Given the description of an element on the screen output the (x, y) to click on. 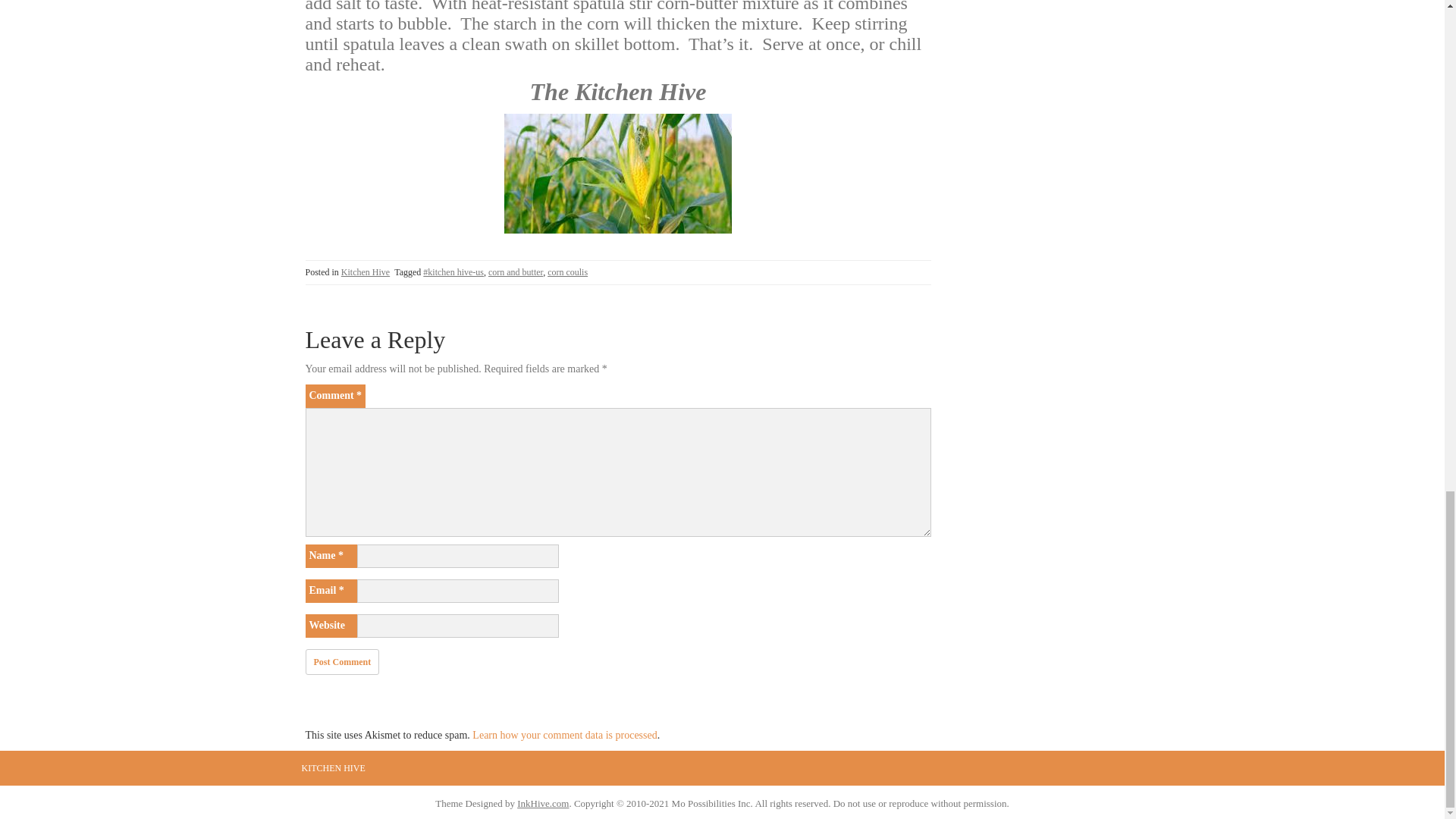
Post Comment (341, 661)
Post Comment (341, 661)
Learn how your comment data is processed (563, 735)
Kitchen Hive (365, 271)
InkHive.com (542, 803)
KITCHEN HIVE (333, 768)
corn coulis (567, 271)
corn and butter (515, 271)
